Given the description of an element on the screen output the (x, y) to click on. 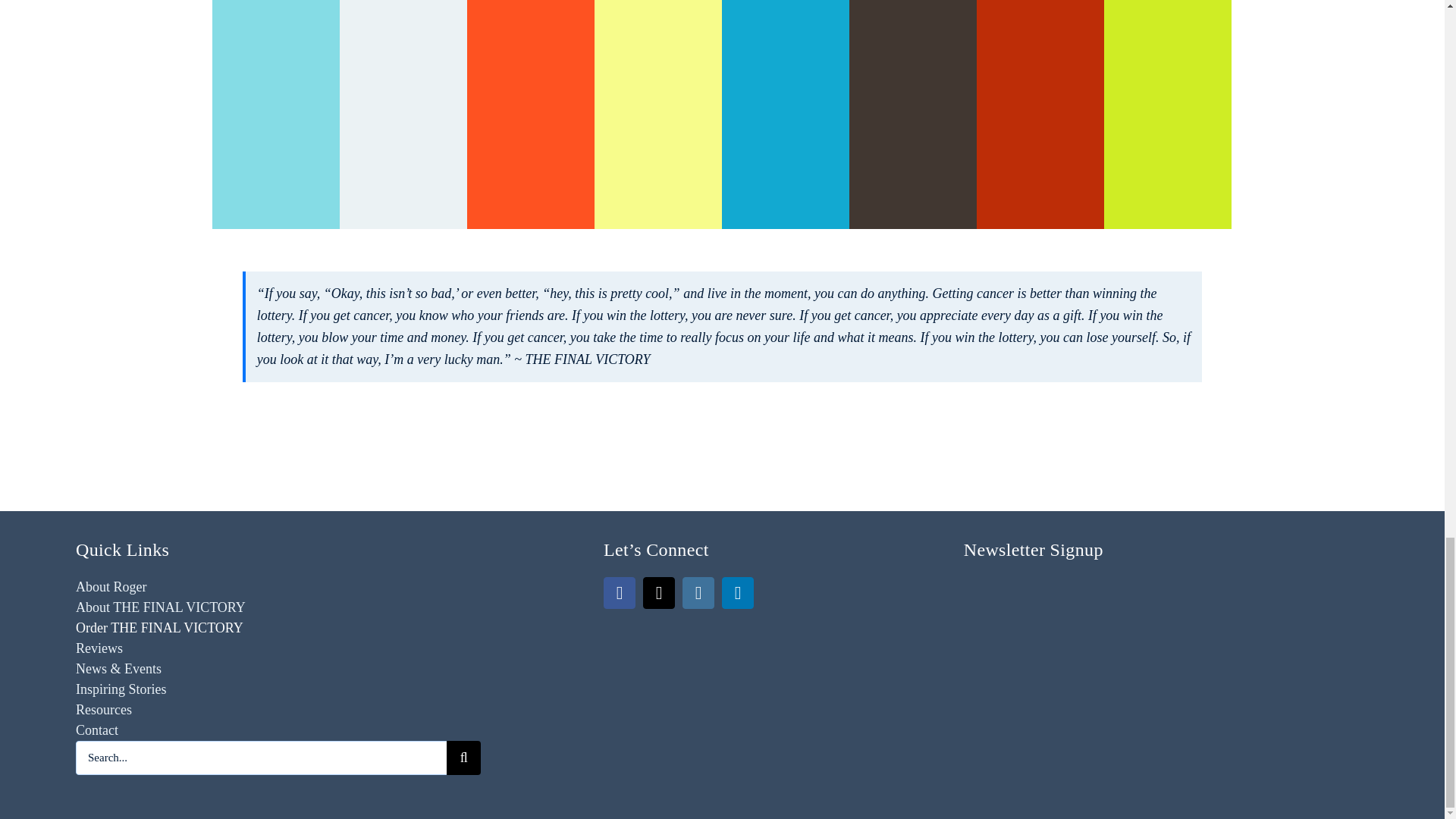
Instagram (698, 592)
Facebook (619, 592)
X (659, 592)
LinkedIn (738, 592)
